Given the description of an element on the screen output the (x, y) to click on. 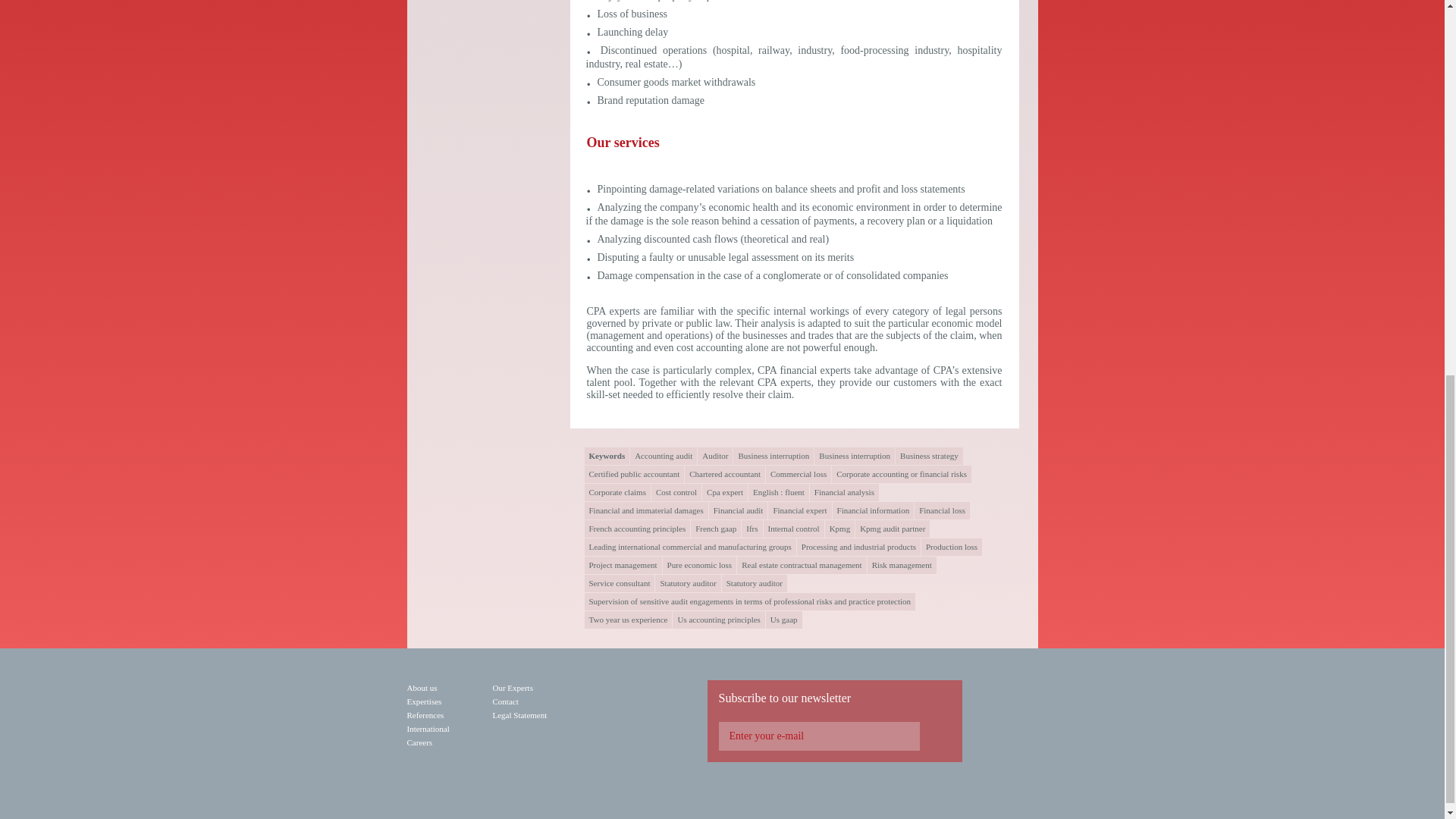
Business interruption (854, 456)
Corporate claims (616, 492)
Business interruption (773, 456)
Corporate accounting or financial risks (901, 474)
Chartered accountant (724, 474)
Auditor (714, 456)
Certified public accountant (633, 474)
Accounting audit (663, 456)
Business strategy (928, 456)
Commercial loss (798, 474)
